Given the description of an element on the screen output the (x, y) to click on. 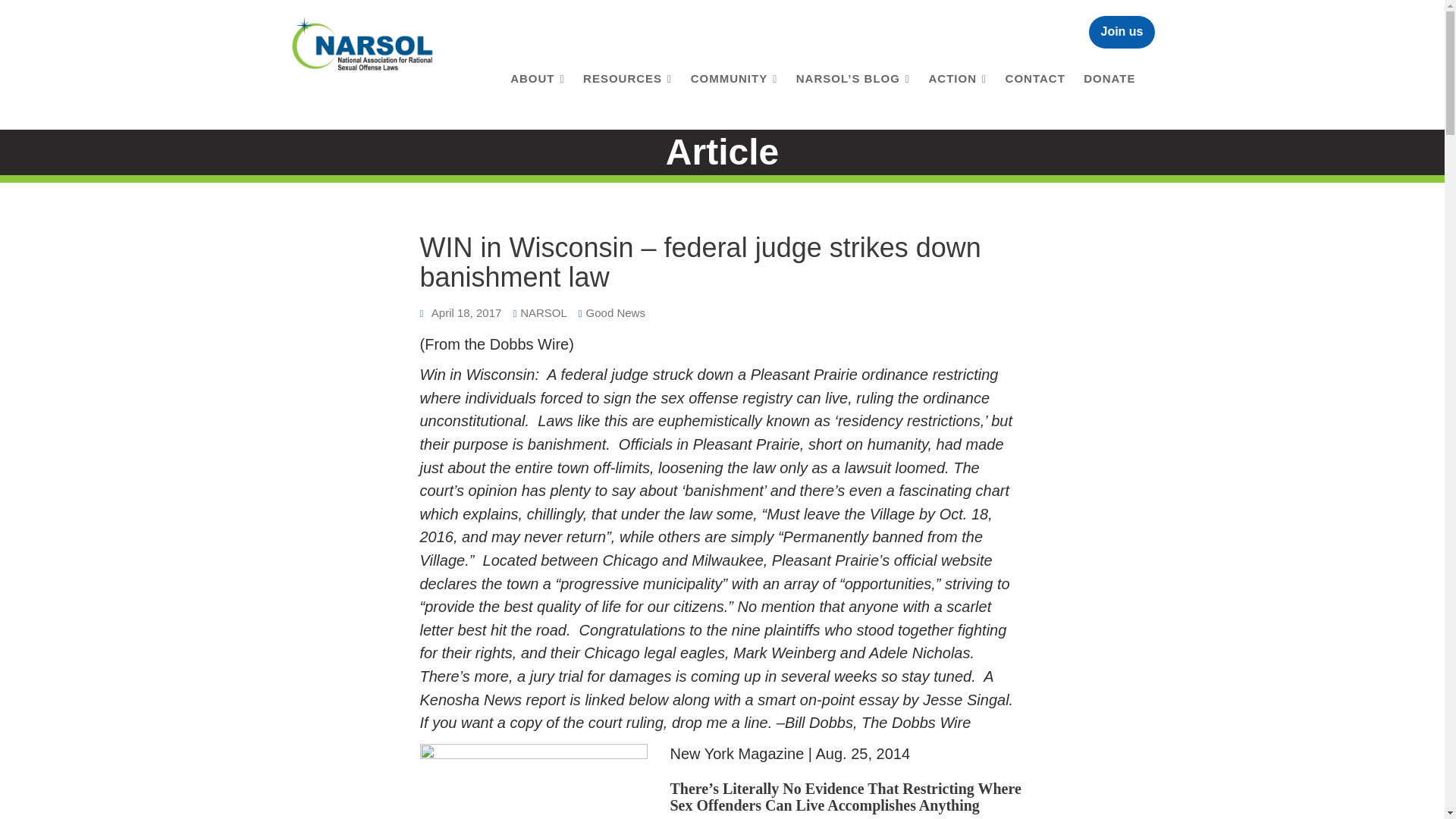
RESOURCES (627, 78)
COMMUNITY (734, 78)
Join us (1121, 31)
ABOUT (537, 78)
